Given the description of an element on the screen output the (x, y) to click on. 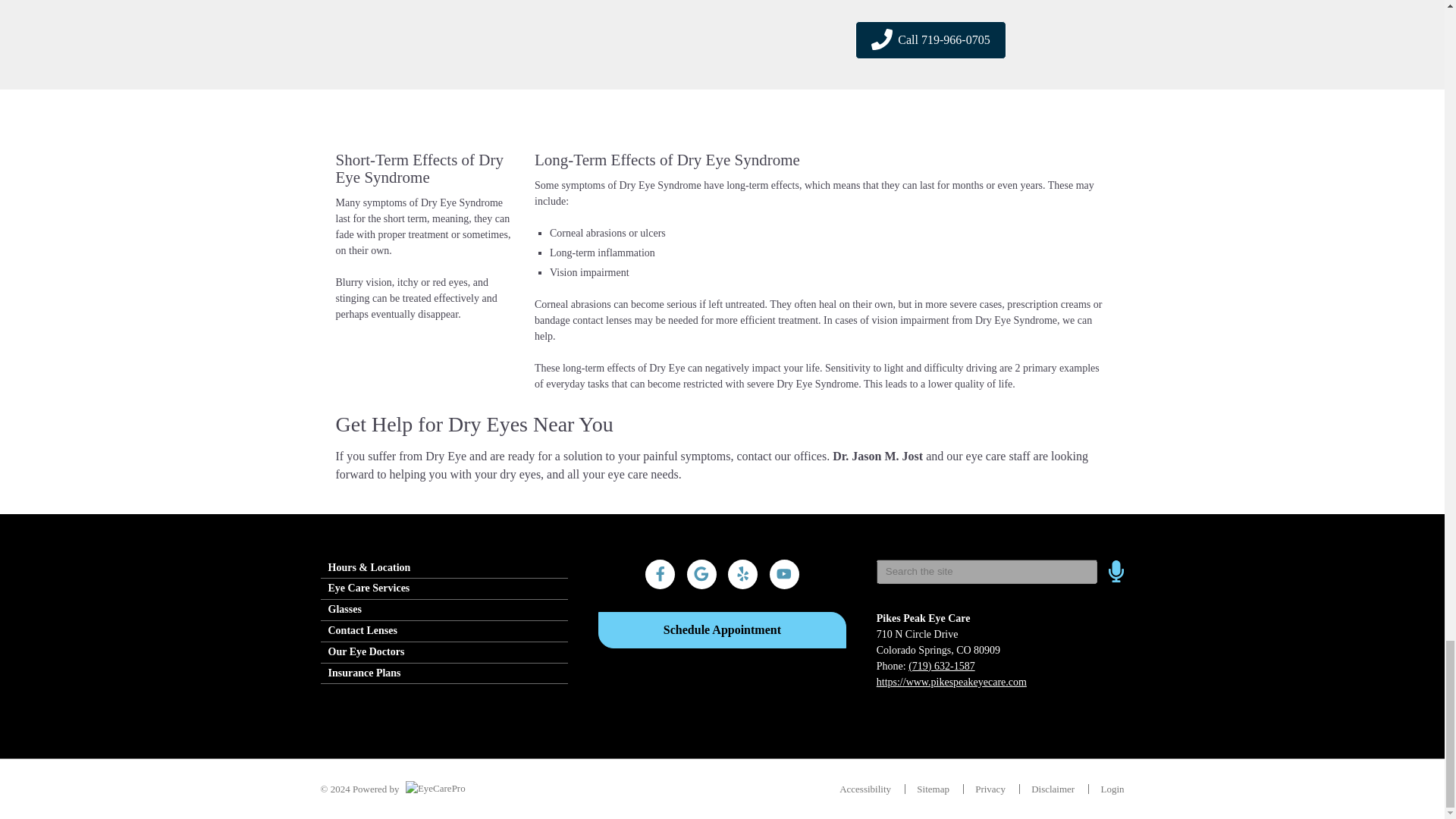
Speak Field (986, 571)
